Given the description of an element on the screen output the (x, y) to click on. 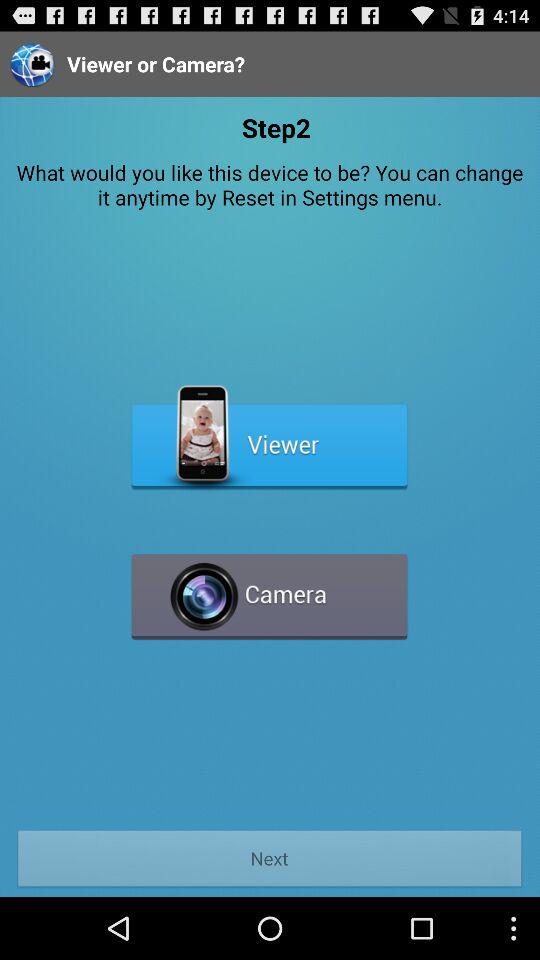
photo view (269, 438)
